Given the description of an element on the screen output the (x, y) to click on. 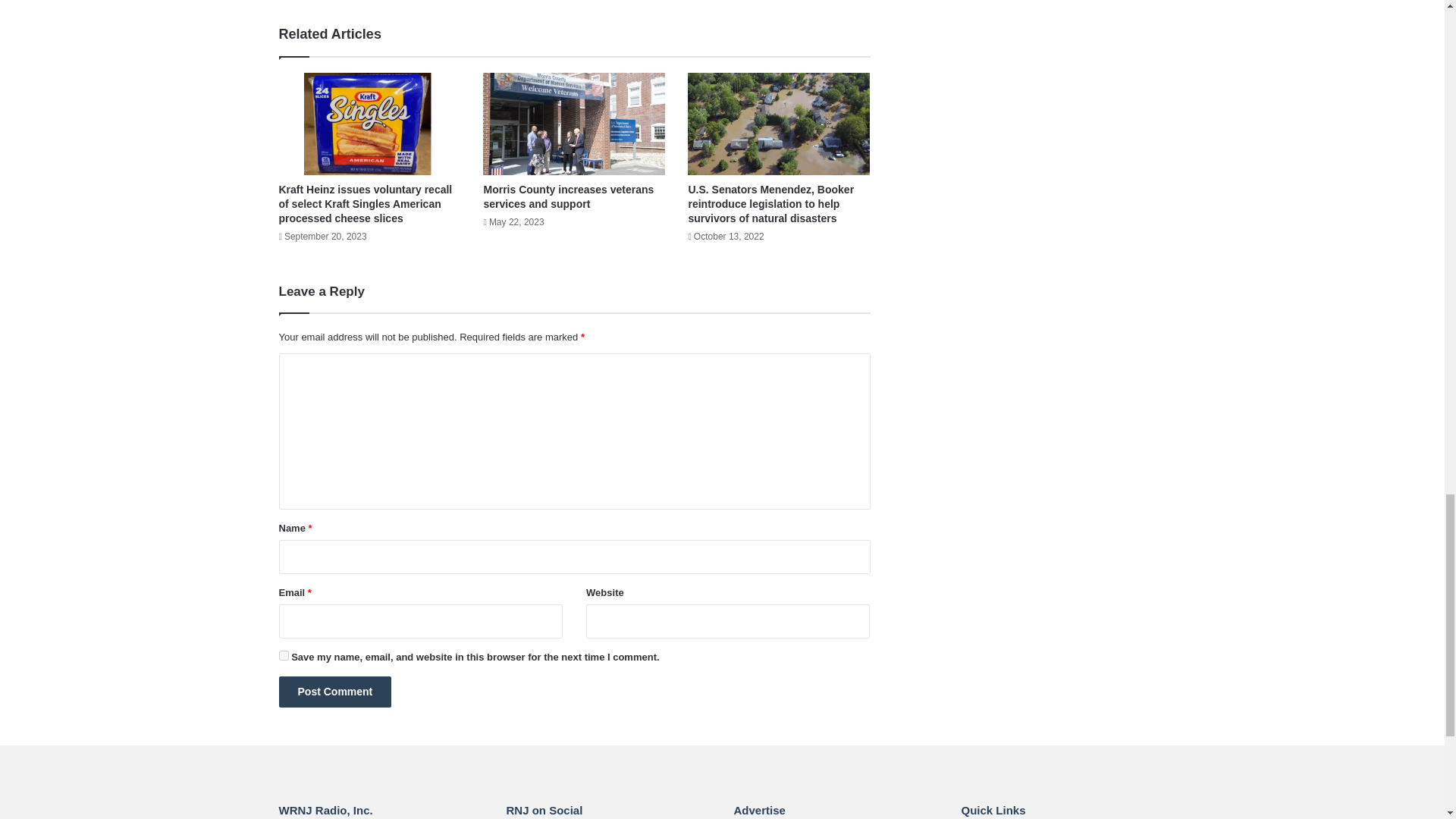
yes (283, 655)
Post Comment (335, 691)
